Given the description of an element on the screen output the (x, y) to click on. 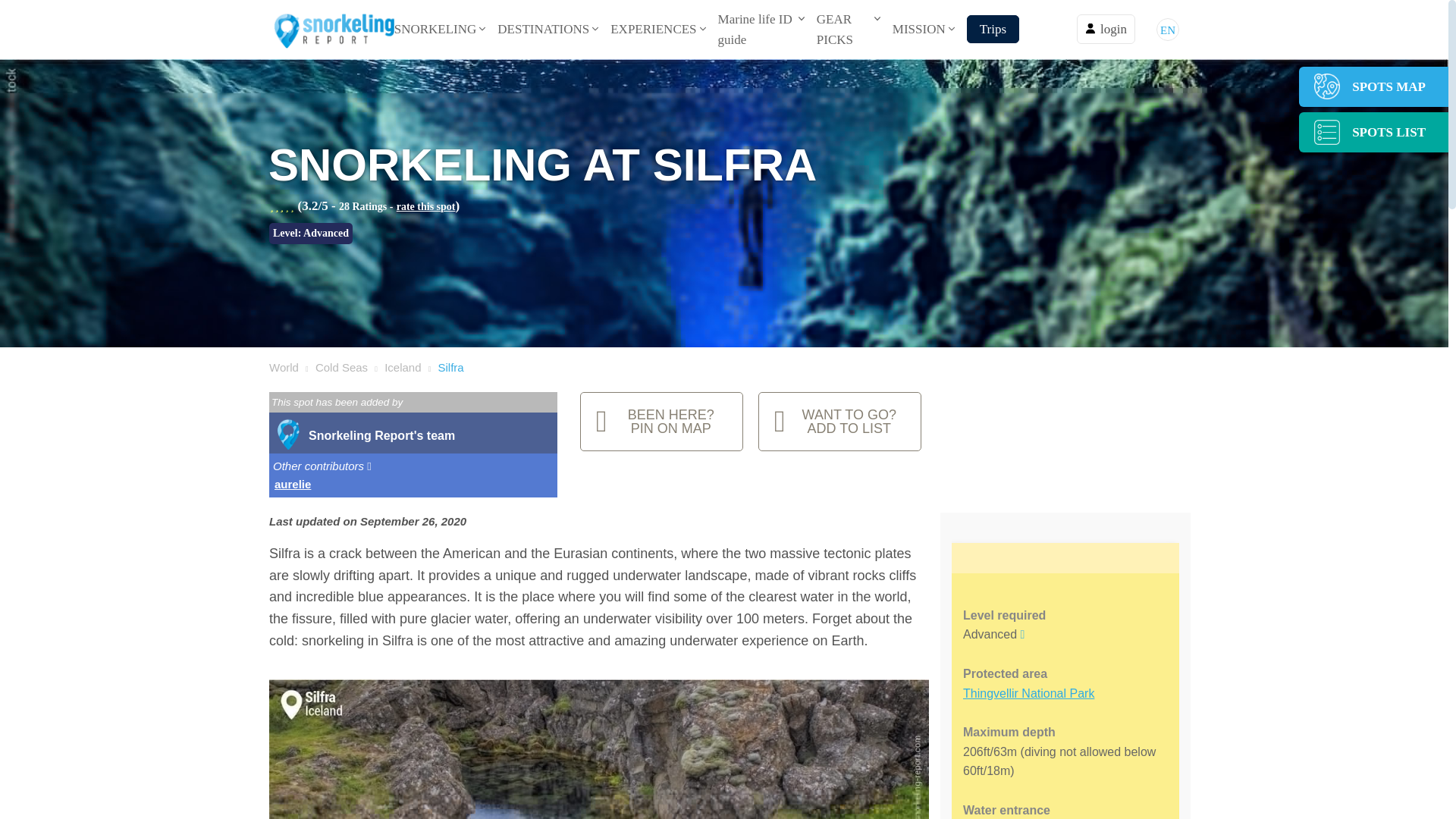
Marine life ID guide (754, 29)
English (1167, 29)
EXPERIENCES (652, 29)
DESTINATIONS (543, 29)
SNORKELING (435, 29)
Snorkeling Report (331, 29)
